Given the description of an element on the screen output the (x, y) to click on. 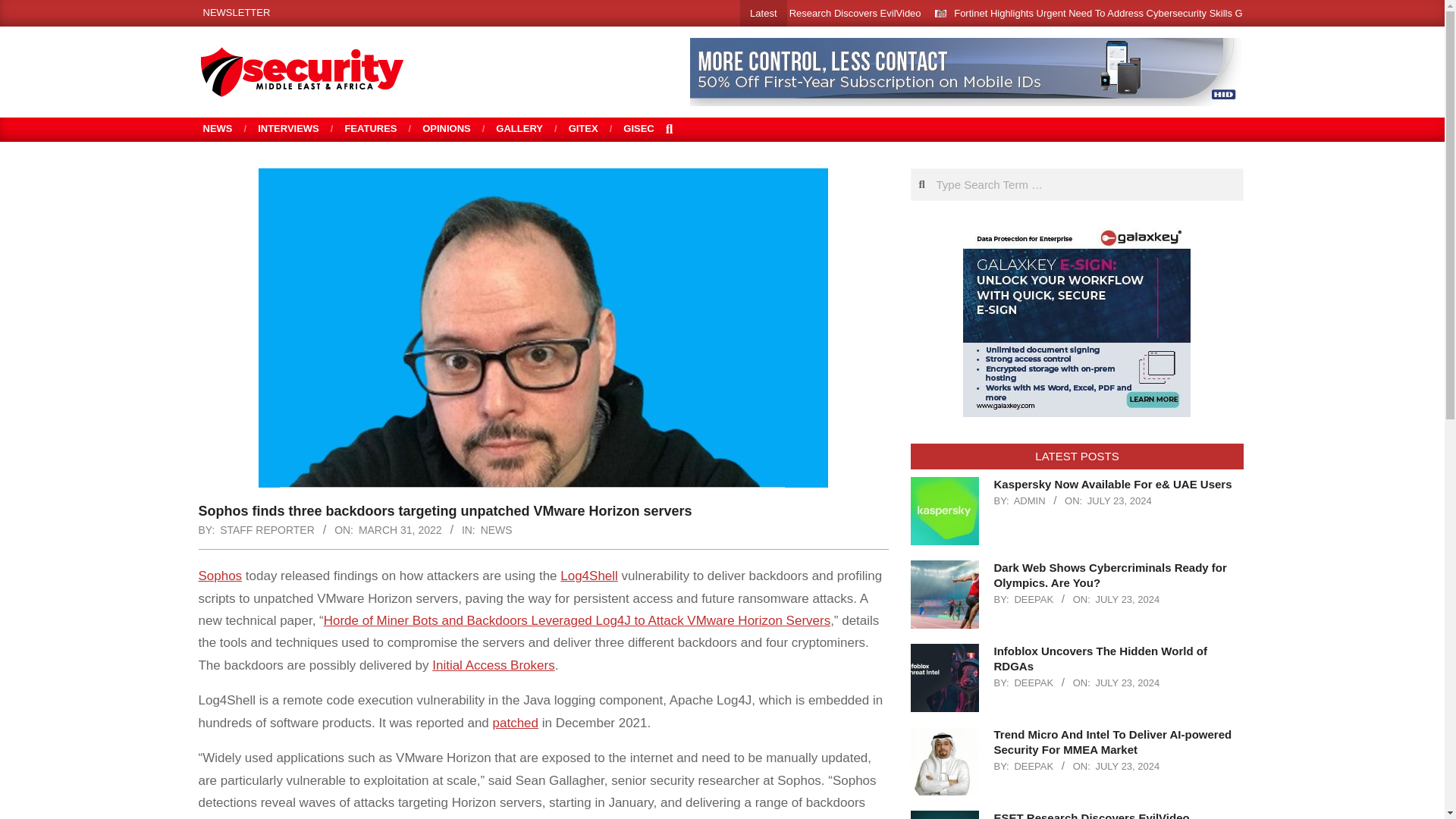
Tuesday, July 23, 2024, 5:01 pm (1126, 682)
Tuesday, July 23, 2024, 5:24 pm (1119, 500)
Posts by Deepak (1032, 682)
Posts by Deepak (1032, 599)
Posts by Staff Reporter (266, 530)
Posts by Deepak (1032, 766)
NEWSLETTER (236, 12)
ESET Research Discovers EvilVideo (840, 12)
Thursday, March 31, 2022, 2:37 pm (400, 530)
Posts by admin (1029, 500)
Tuesday, July 23, 2024, 2:46 pm (1126, 766)
Tuesday, July 23, 2024, 5:10 pm (1126, 599)
